Given the description of an element on the screen output the (x, y) to click on. 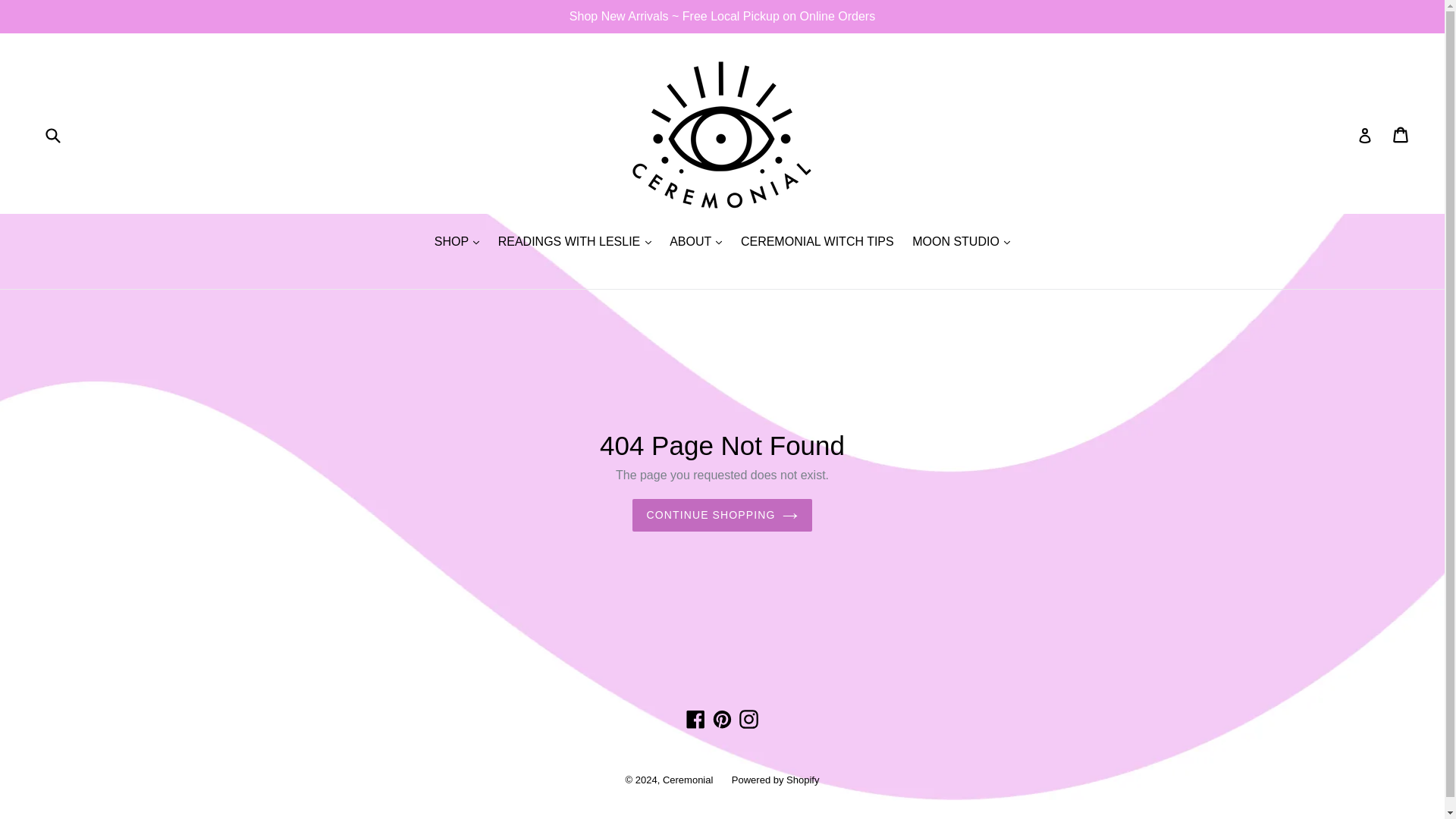
Ceremonial on Instagram (748, 719)
Ceremonial on Pinterest (721, 719)
Ceremonial on Facebook (695, 719)
